Given the description of an element on the screen output the (x, y) to click on. 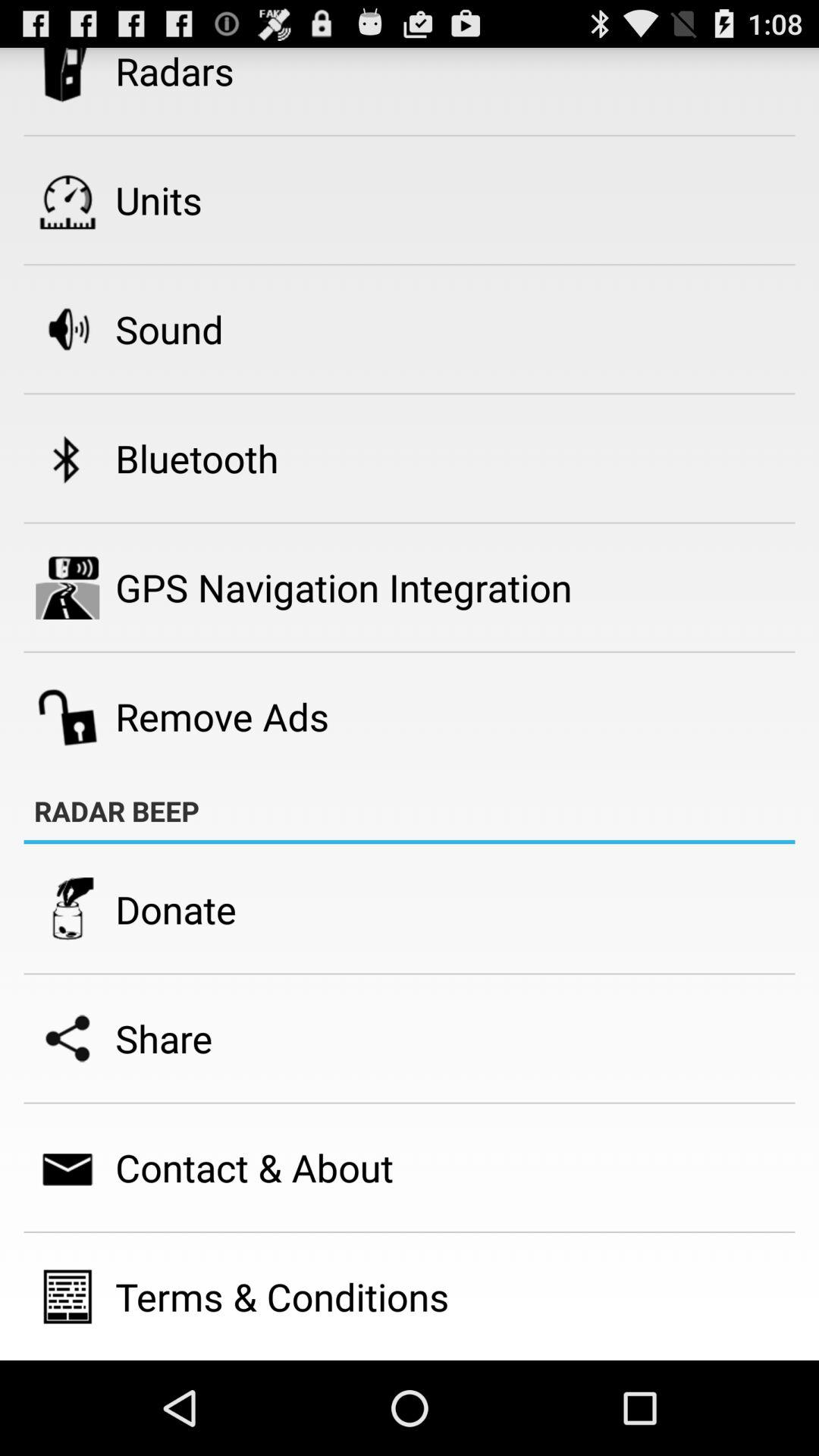
press the bluetooth app (196, 458)
